Given the description of an element on the screen output the (x, y) to click on. 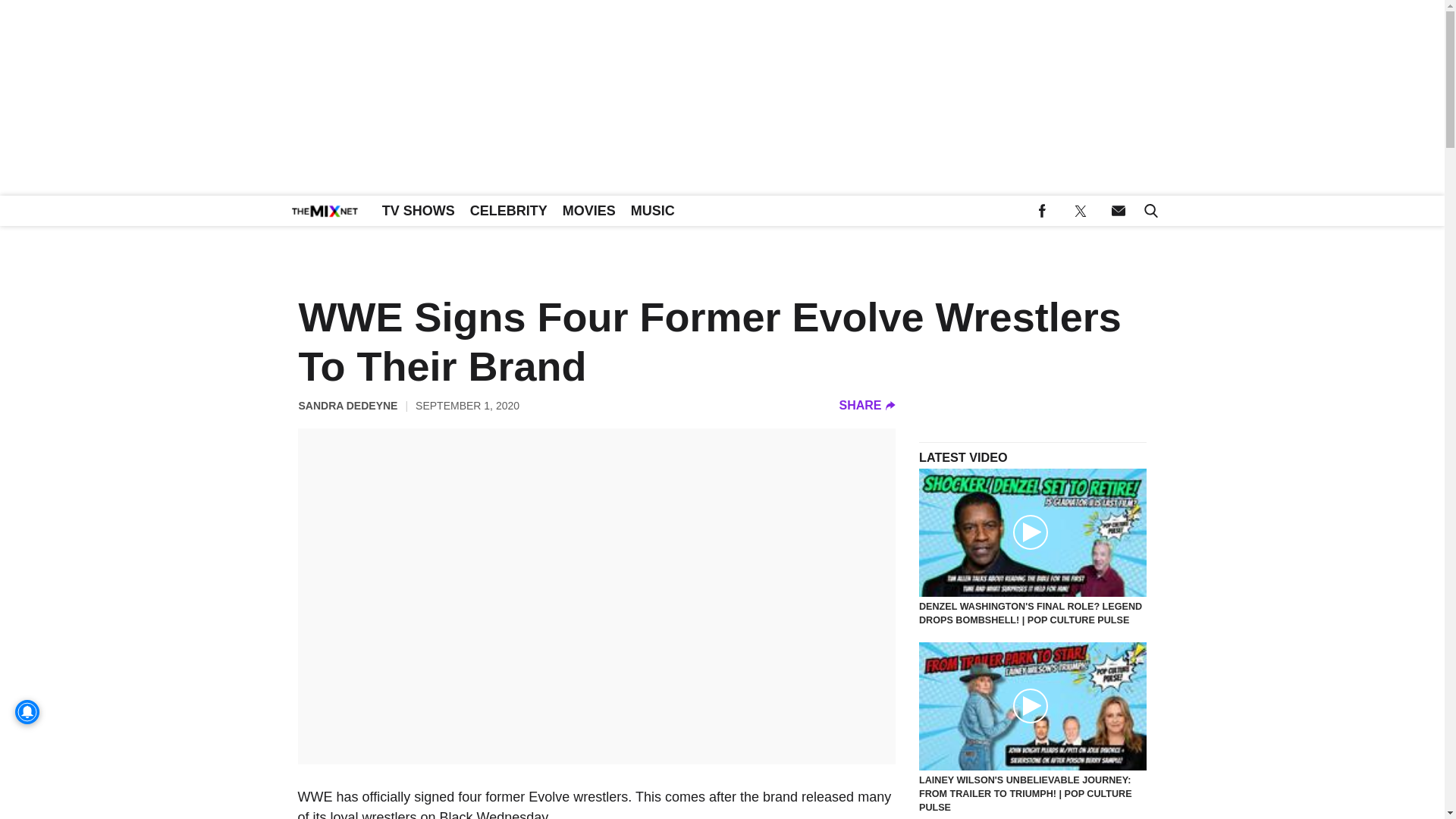
MUSIC (652, 210)
TV SHOWS (418, 210)
Send us an email (1118, 210)
CELEBRITY (508, 210)
Follow us on Facebook (1042, 210)
loyal wrestlers on Black Wednesday (438, 814)
Posts by Sandra Dedeyne (347, 405)
Follow us on Twitter (1080, 210)
MOVIES (588, 210)
SANDRA DEDEYNE (347, 405)
